Given the description of an element on the screen output the (x, y) to click on. 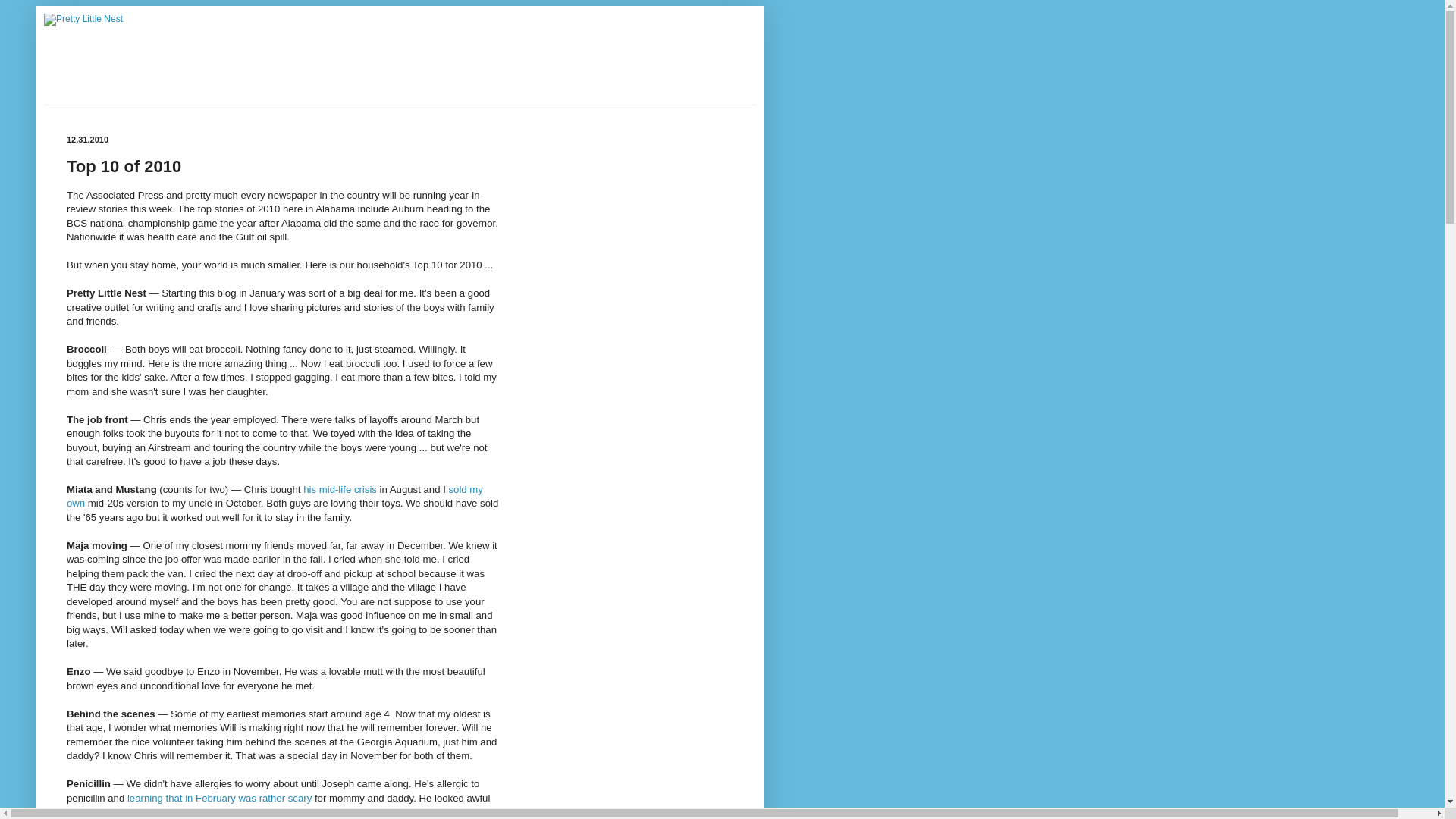
his mid-life crisis (339, 489)
learning that in February was rather scary (219, 797)
sold my own (274, 496)
